Given the description of an element on the screen output the (x, y) to click on. 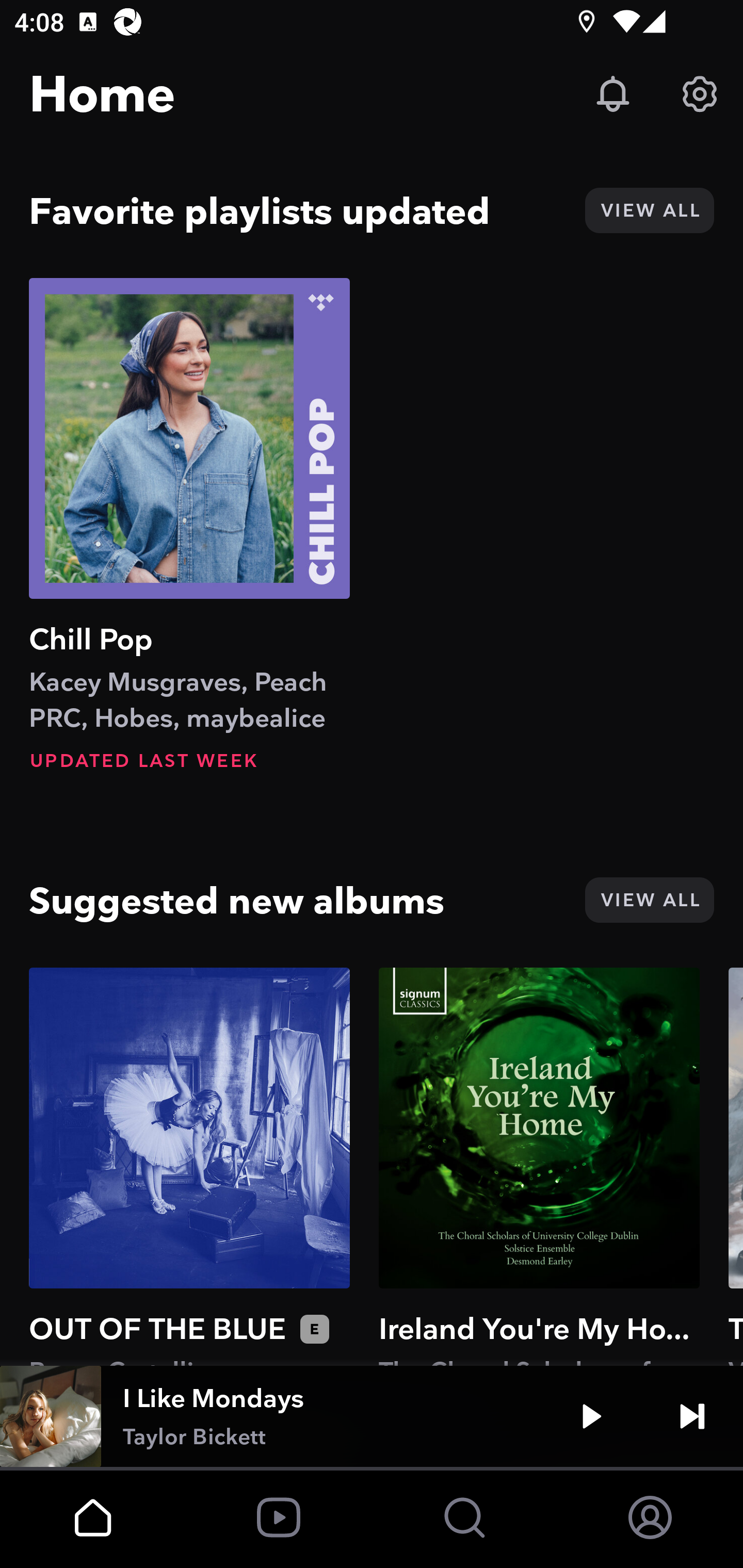
Updates (612, 93)
Settings (699, 93)
VIEW ALL (649, 210)
VIEW ALL (649, 899)
OUT OF THE BLUE Brynn Cartelli (188, 1166)
I Like Mondays Taylor Bickett Play (371, 1416)
Play (590, 1416)
